Given the description of an element on the screen output the (x, y) to click on. 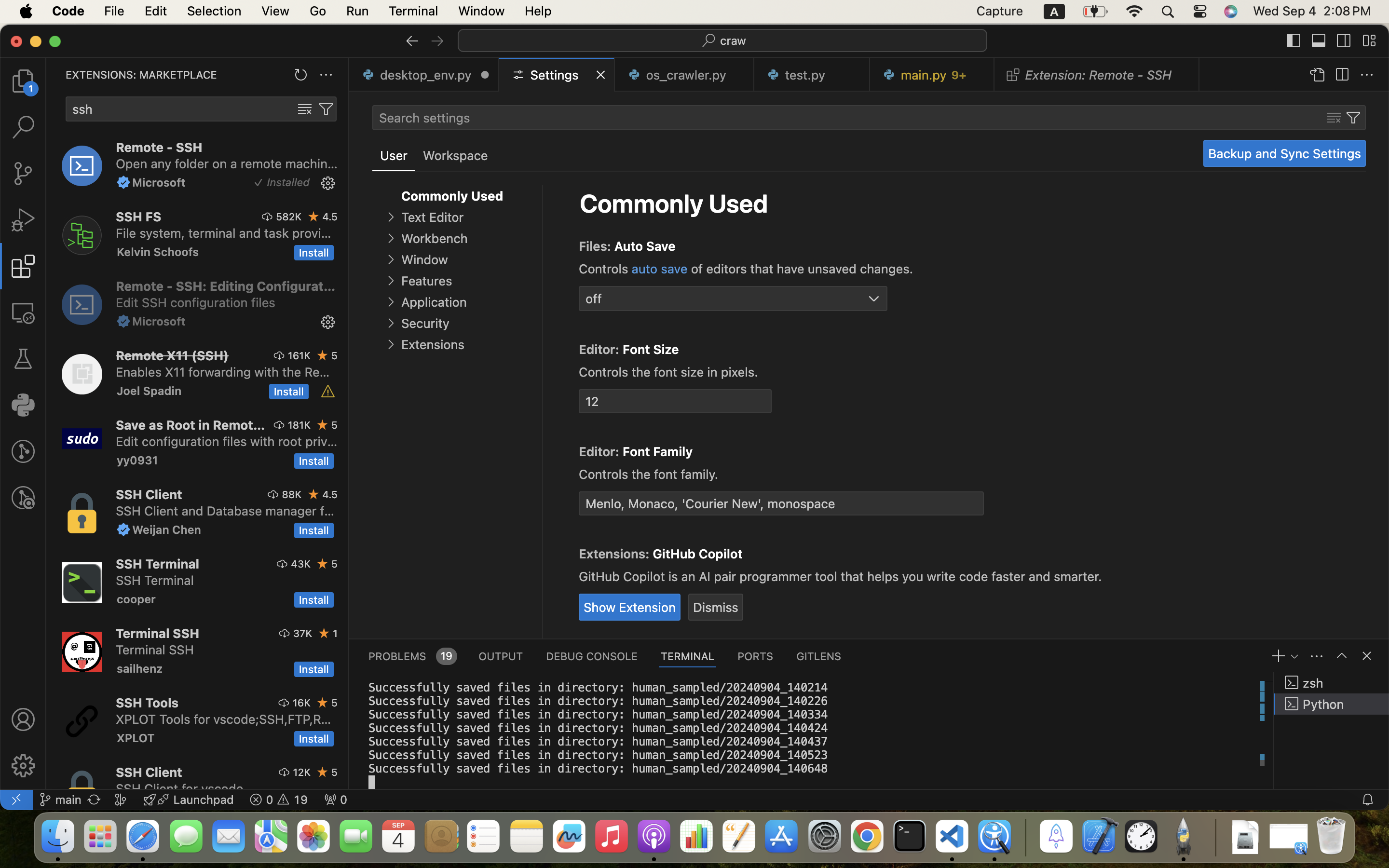
Open any folder on a remote machine using SSH and take advantage of VS Code's full feature set. Element type: AXStaticText (226, 163)
XPLOT Element type: AXStaticText (135, 737)
16K Element type: AXStaticText (301, 702)
SSH Client Element type: AXStaticText (148, 771)
 Element type: AXStaticText (325, 108)
